Given the description of an element on the screen output the (x, y) to click on. 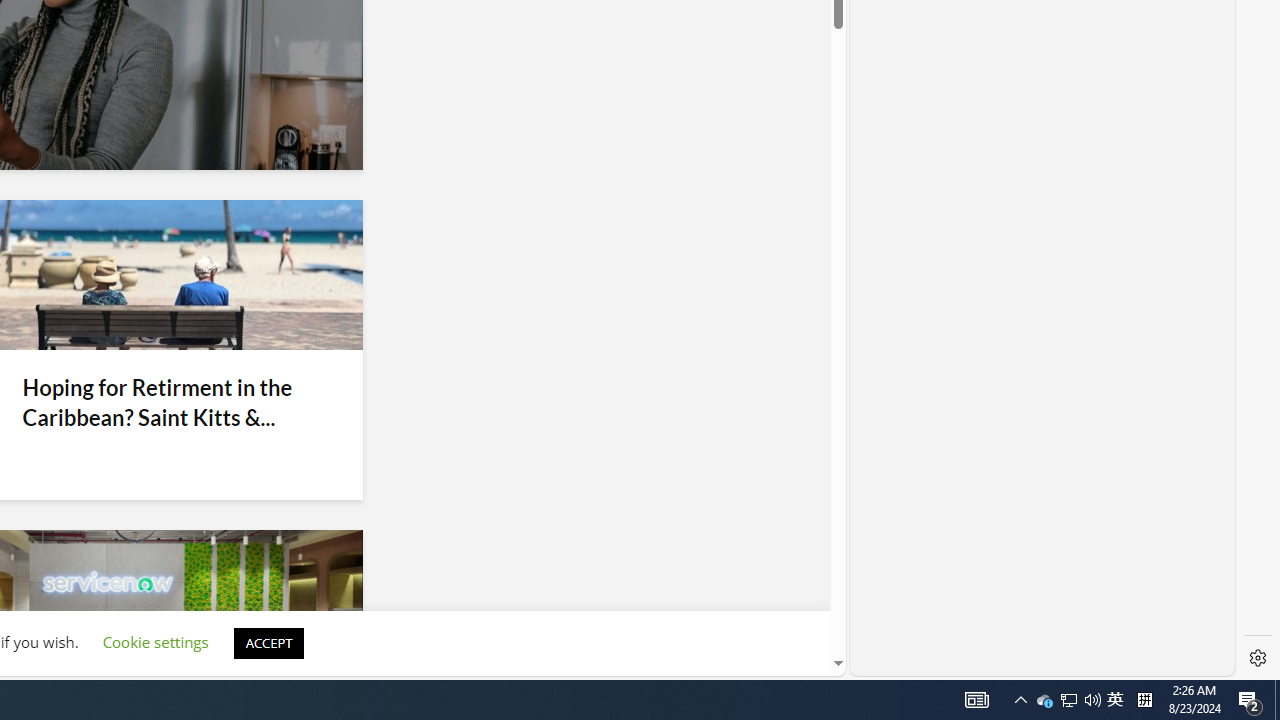
Hoping for Retirment in the Caribbean? Saint Kitts &... (176, 402)
ACCEPT (268, 642)
Cookie settings (155, 642)
